Given the description of an element on the screen output the (x, y) to click on. 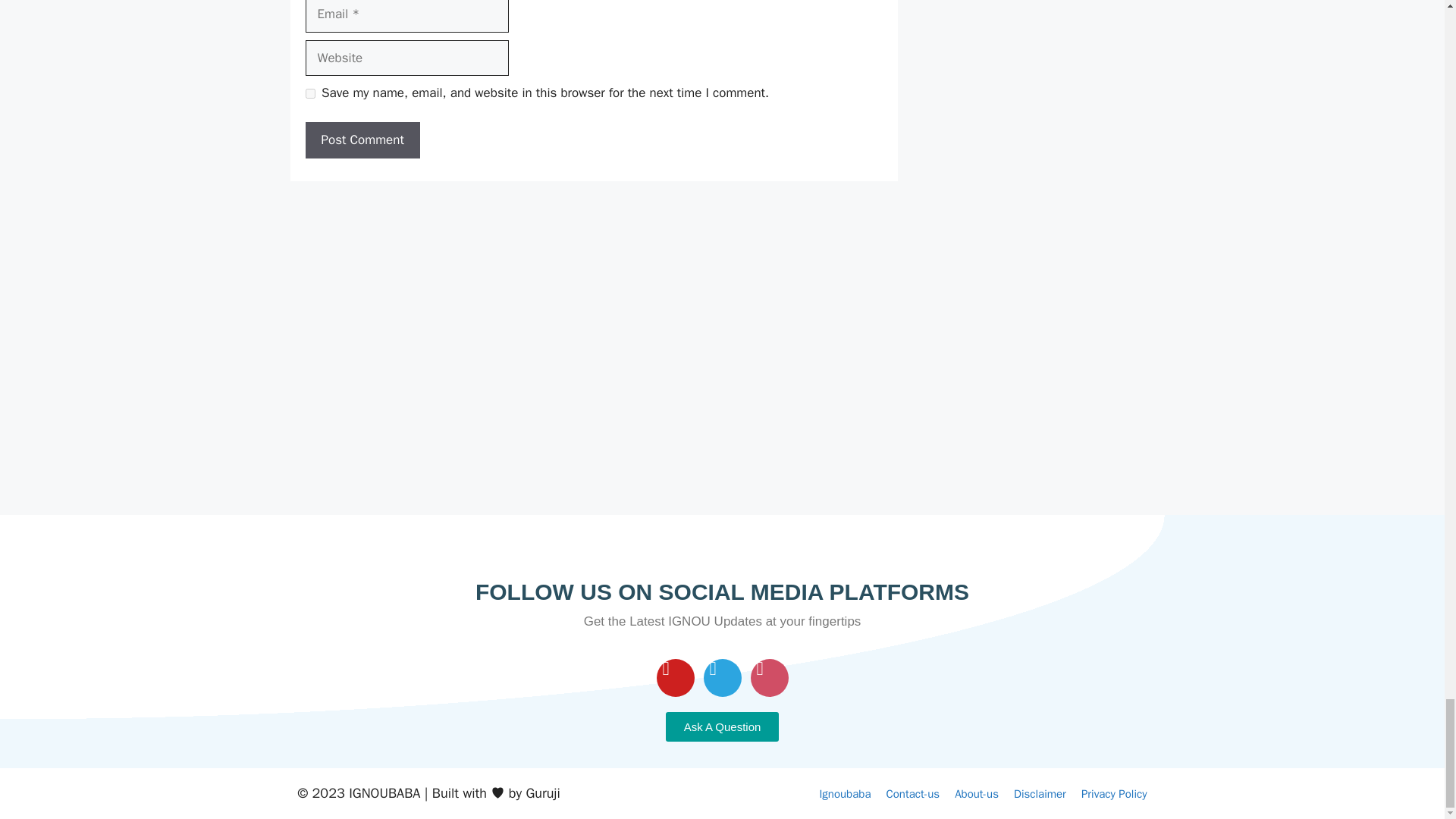
Post Comment (361, 140)
yes (309, 93)
Post Comment (361, 140)
